Given the description of an element on the screen output the (x, y) to click on. 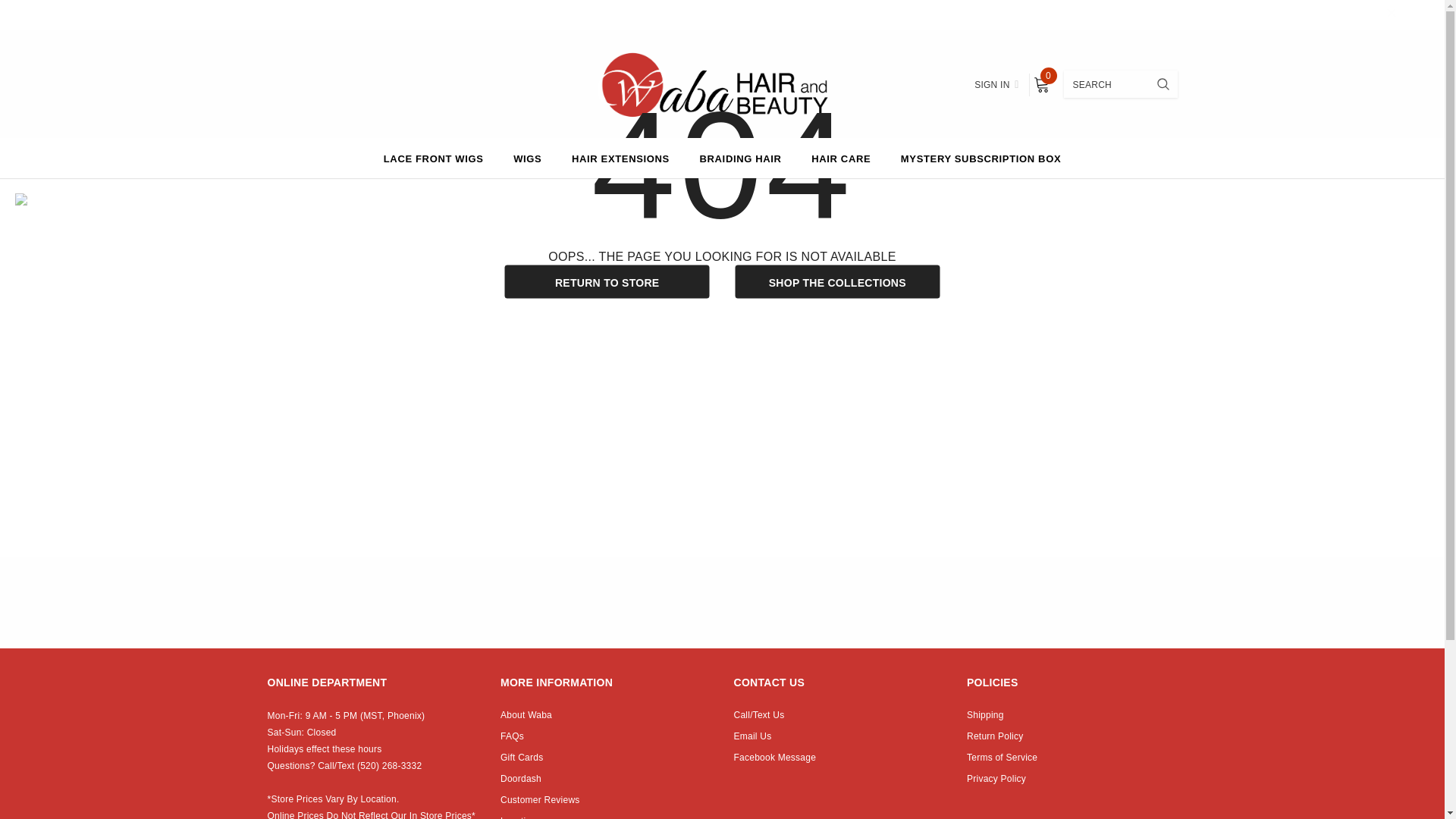
LACE FRONT WIGS (433, 158)
close (1391, 14)
HAIR EXTENSIONS (620, 158)
0 (1040, 84)
Cart Icon (1040, 84)
SIGN IN (995, 84)
Logo (721, 83)
